Given the description of an element on the screen output the (x, y) to click on. 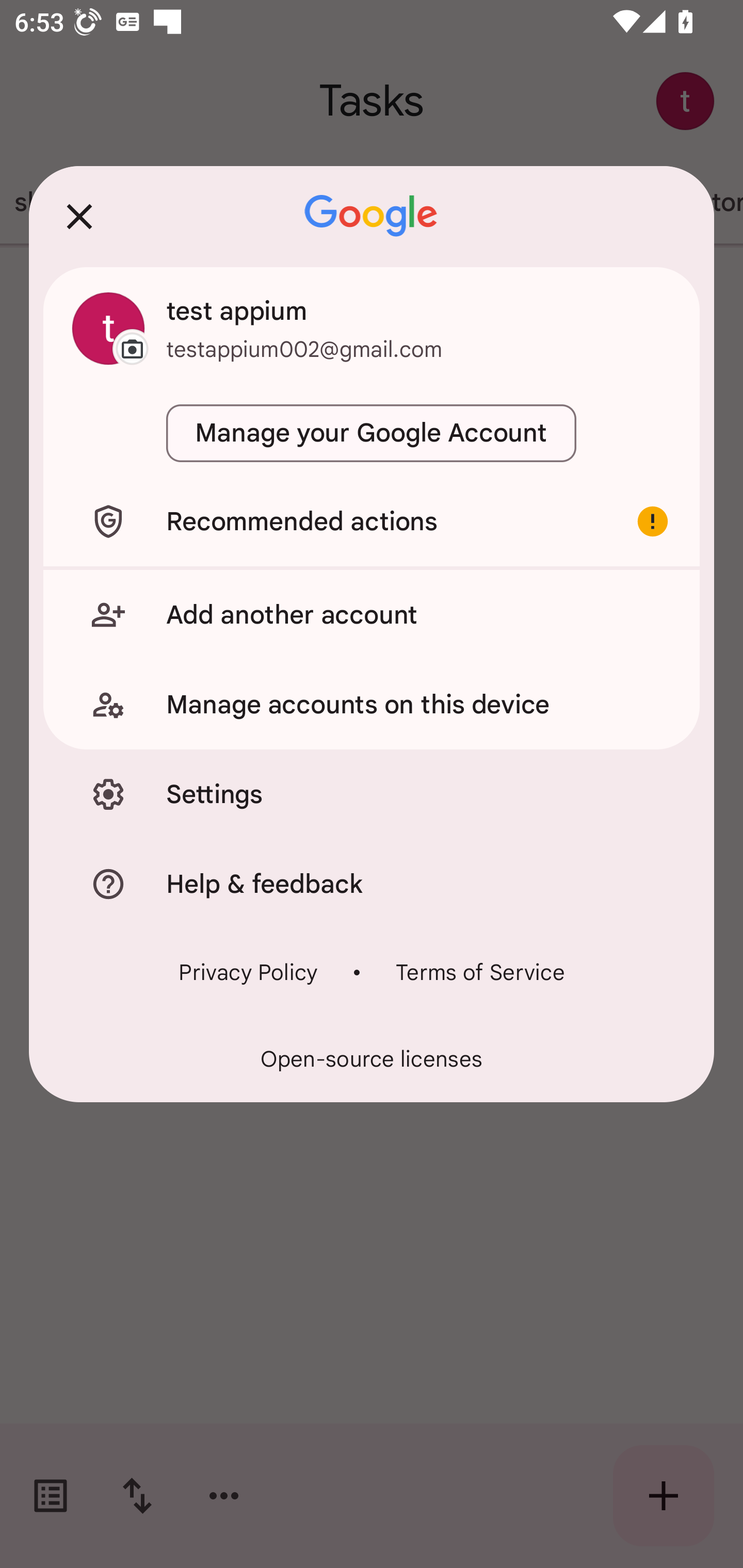
Close (79, 216)
Change profile picture. (108, 328)
Manage your Google Account (371, 433)
Recommended actions Important account alert (371, 521)
Add another account (371, 614)
Manage accounts on this device (371, 704)
Settings (371, 793)
Help & feedback (371, 883)
Privacy Policy (247, 972)
Terms of Service (479, 972)
Open-source licenses (371, 1059)
